Given the description of an element on the screen output the (x, y) to click on. 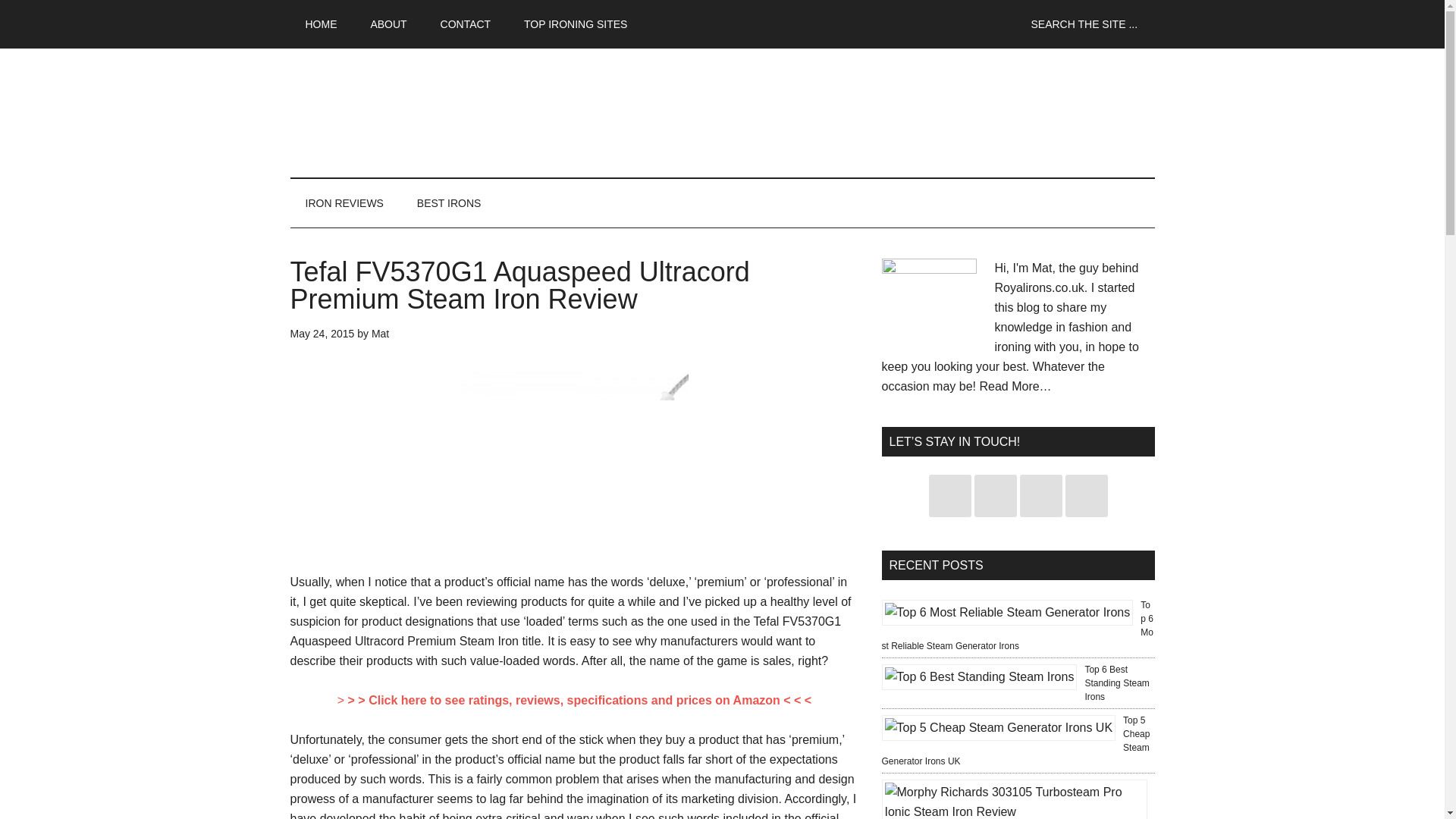
ABOUT (388, 24)
Royalirons.co.uk (433, 112)
TOP IRONING SITES (575, 24)
IRON REVIEWS (343, 203)
Top 6 Most Reliable Steam Generator Irons (1016, 625)
HOME (320, 24)
Permalink to Top 6 Best Standing Steam Irons (1116, 682)
Mat (379, 333)
Top 6 Best Standing Steam Irons (1116, 682)
Permalink to Top 5 Cheap Steam Generator Irons UK (1015, 740)
BEST IRONS (448, 203)
Top 5 Cheap Steam Generator Irons UK (1015, 740)
CONTACT (465, 24)
Permalink to Top 6 Most Reliable Steam Generator Irons (1016, 625)
